Given the description of an element on the screen output the (x, y) to click on. 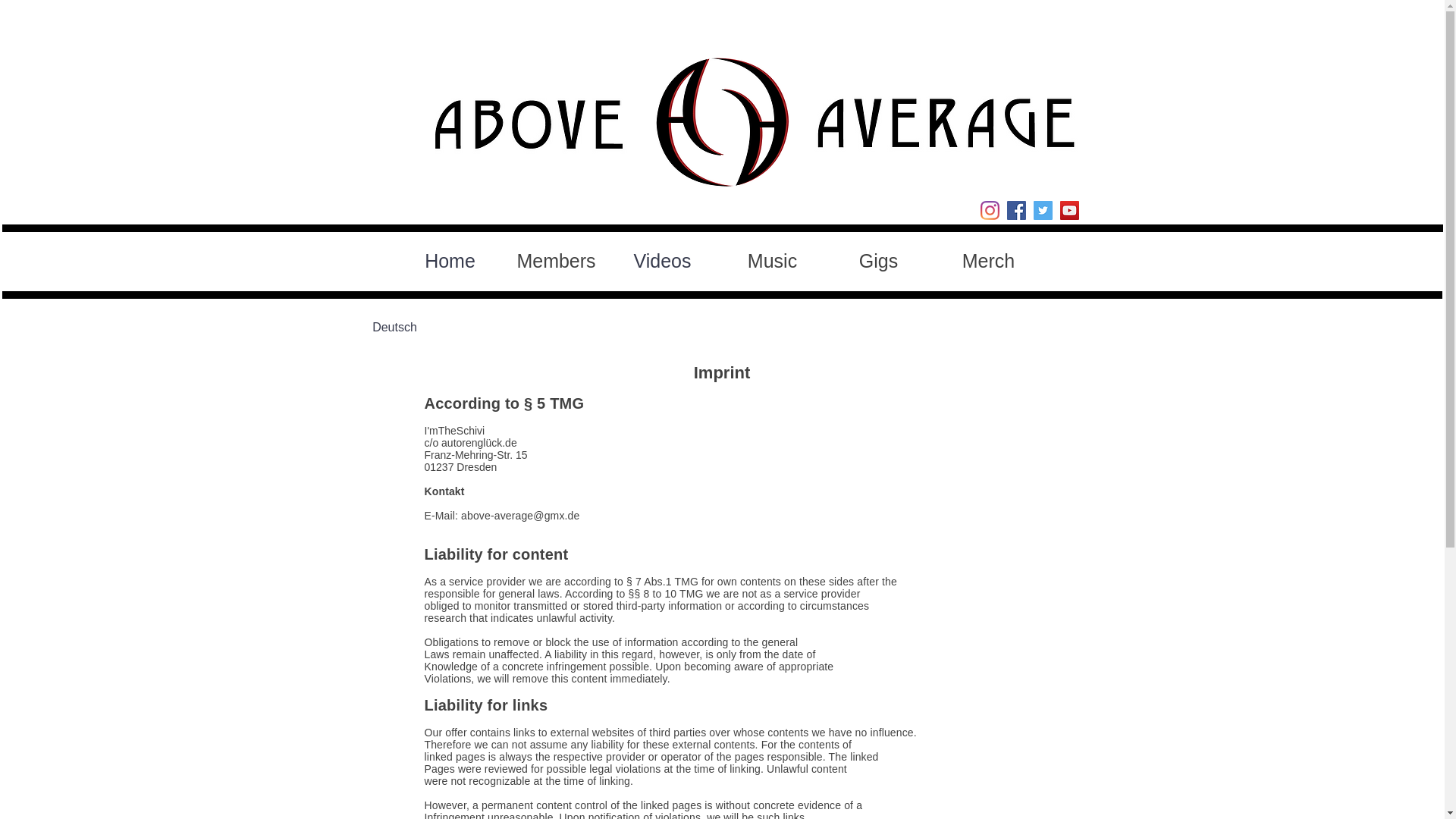
website logo.png (721, 122)
Home (449, 260)
website above.png (533, 123)
Music (773, 260)
website average.png (945, 123)
Deutsch (394, 327)
Videos (662, 260)
Gigs (879, 260)
Members (556, 260)
Merch (988, 260)
